Given the description of an element on the screen output the (x, y) to click on. 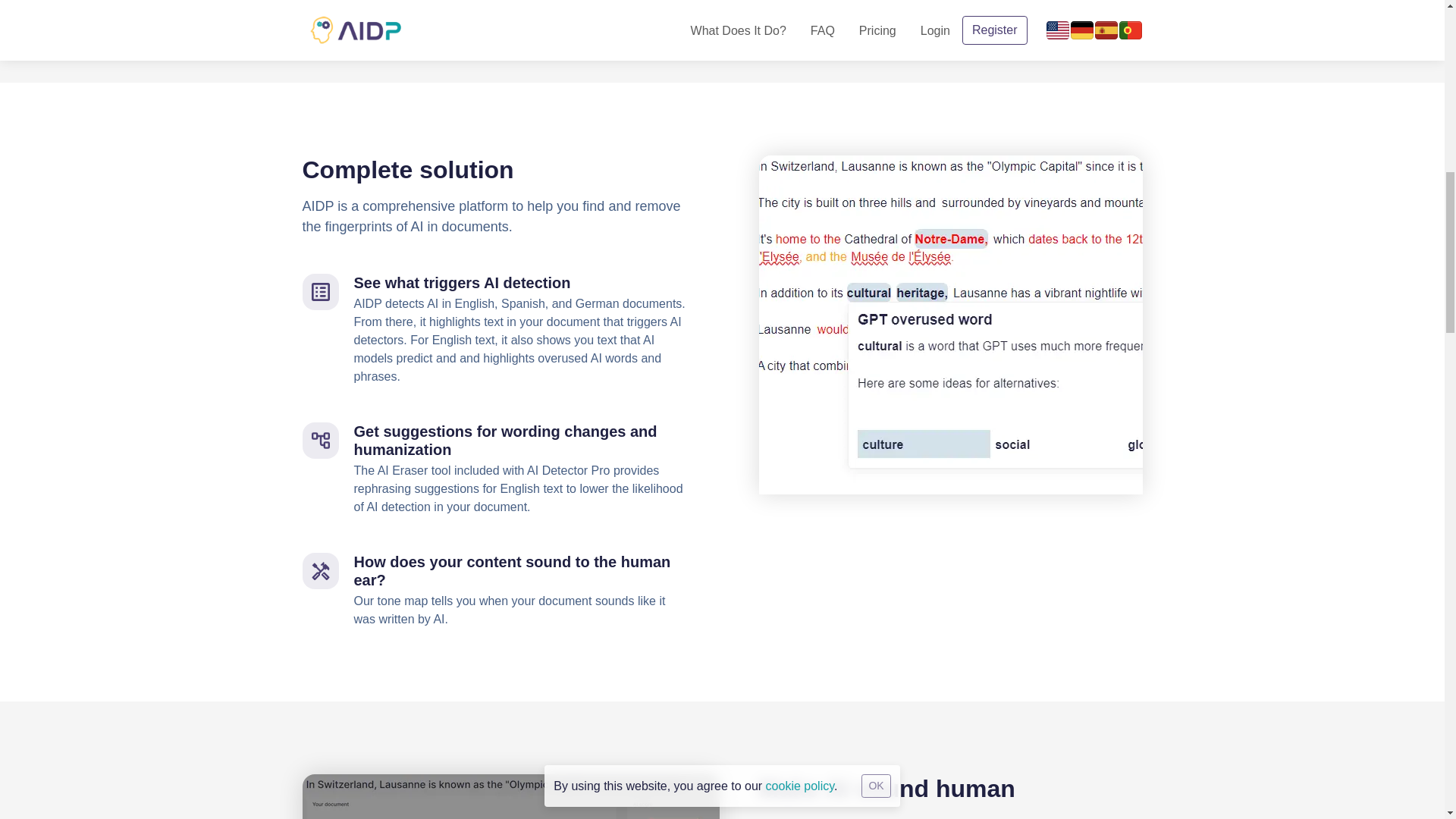
AI generated text detector (949, 324)
AI generated text detector (510, 796)
